Given the description of an element on the screen output the (x, y) to click on. 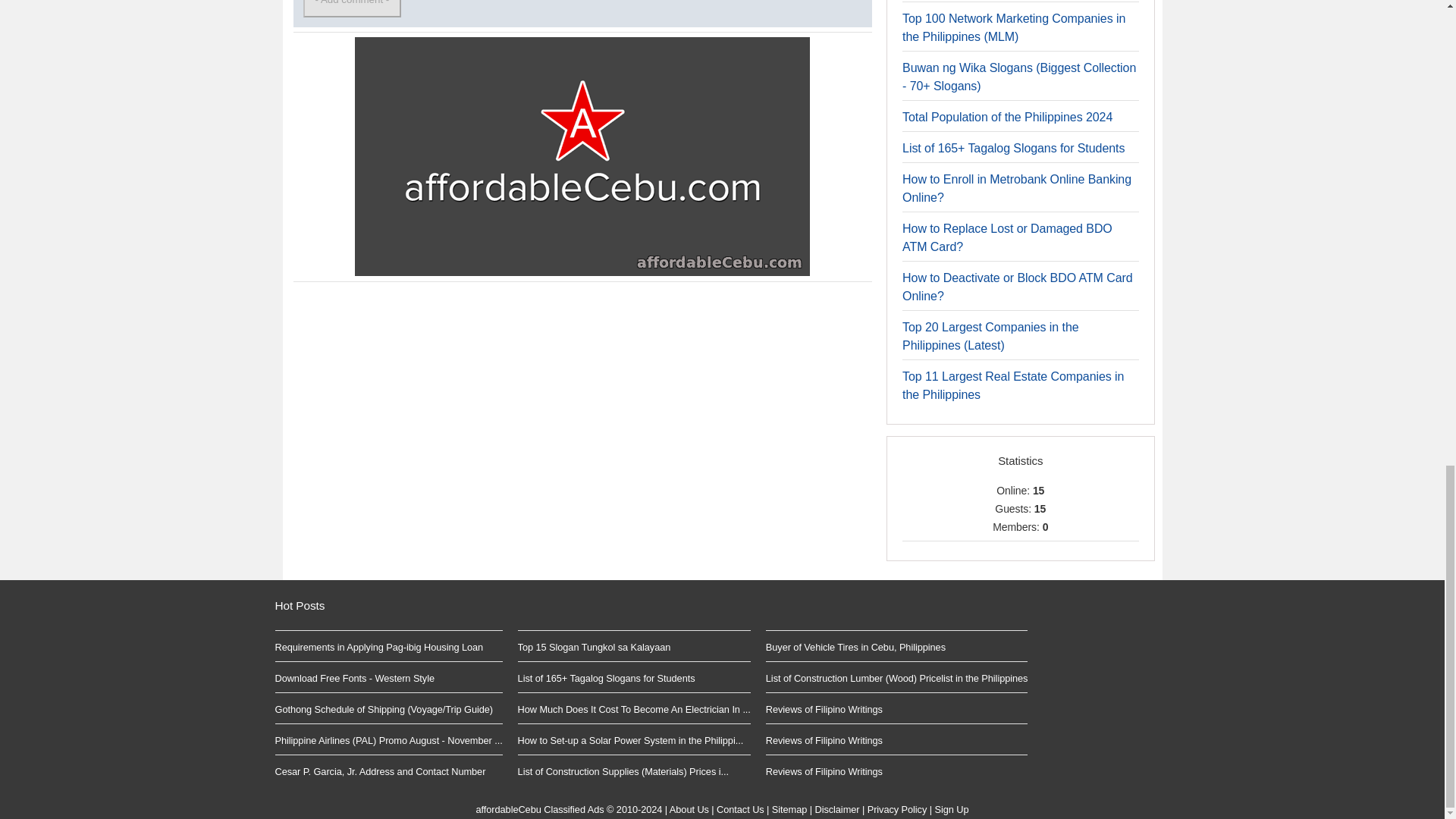
Requirements in Applying Pag-ibig Housing Loan (379, 646)
Top 11 Largest Real Estate Companies in the Philippines (1013, 385)
- Add comment - (351, 8)
Requirements in Applying Pag-ibig Housing Loan (379, 646)
Cesar P. Garcia, Jr. Address and Contact Number (379, 771)
How to Enroll in Metrobank Online Banking Online? (1016, 187)
Total Population of the Philippines 2024 (1007, 116)
Download Free Fonts - Western Style (354, 677)
- Add comment - (351, 8)
How Much Does It Cost To Become An Electrician In ... (634, 708)
Top 11 Largest Real Estate Companies in the Philippines (1013, 385)
How to Enroll in Metrobank Online Banking Online? (1016, 187)
Download Free Fonts - Western Style (354, 677)
How to Set-up a Solar Power System in the Philippi... (631, 740)
How to Replace Lost or Damaged BDO ATM Card? (1007, 237)
